Given the description of an element on the screen output the (x, y) to click on. 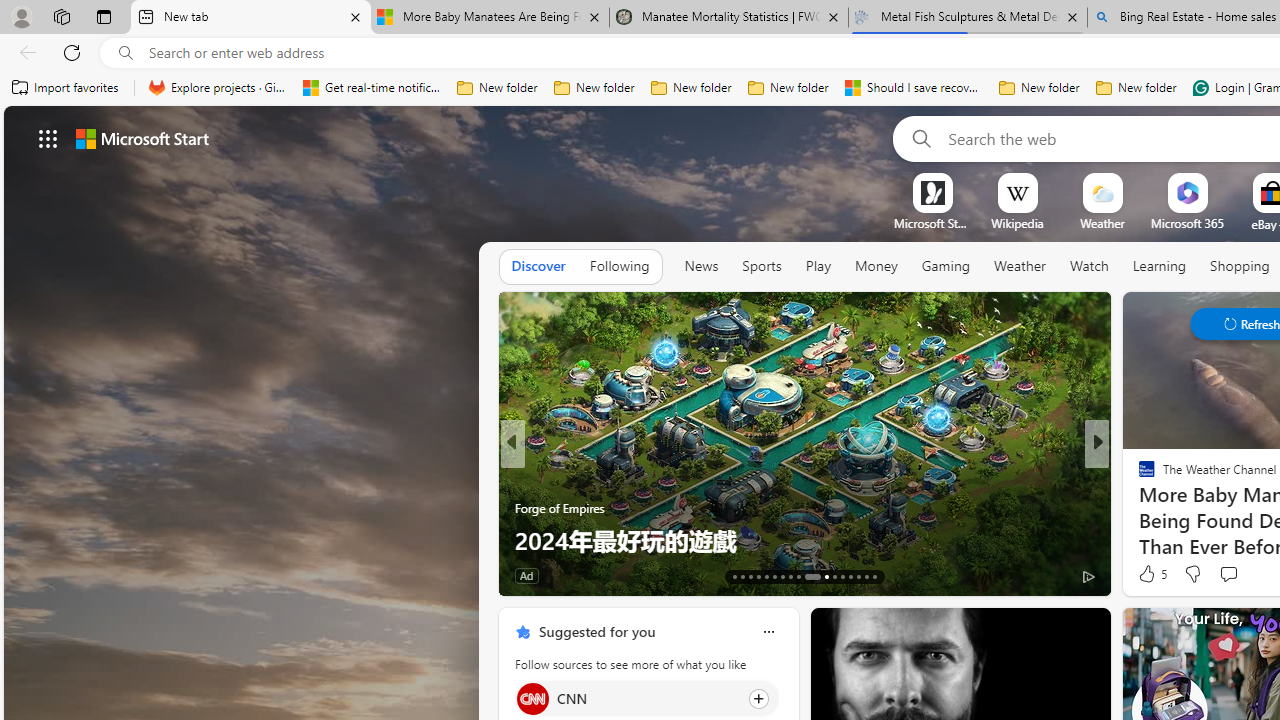
AutomationID: tab-14 (742, 576)
How to Survive (1138, 507)
Should I save recovered Word documents? - Microsoft Support (913, 88)
Hide this story (1050, 632)
News (701, 267)
Suggested for you (596, 631)
Gaming (945, 265)
View comments 1 Comment (1234, 574)
View comments 2 Comment (1229, 575)
Class: icon-img (768, 632)
Manatee Mortality Statistics | FWC (729, 17)
16 Like (1149, 574)
AutomationID: tab-41 (865, 576)
